Given the description of an element on the screen output the (x, y) to click on. 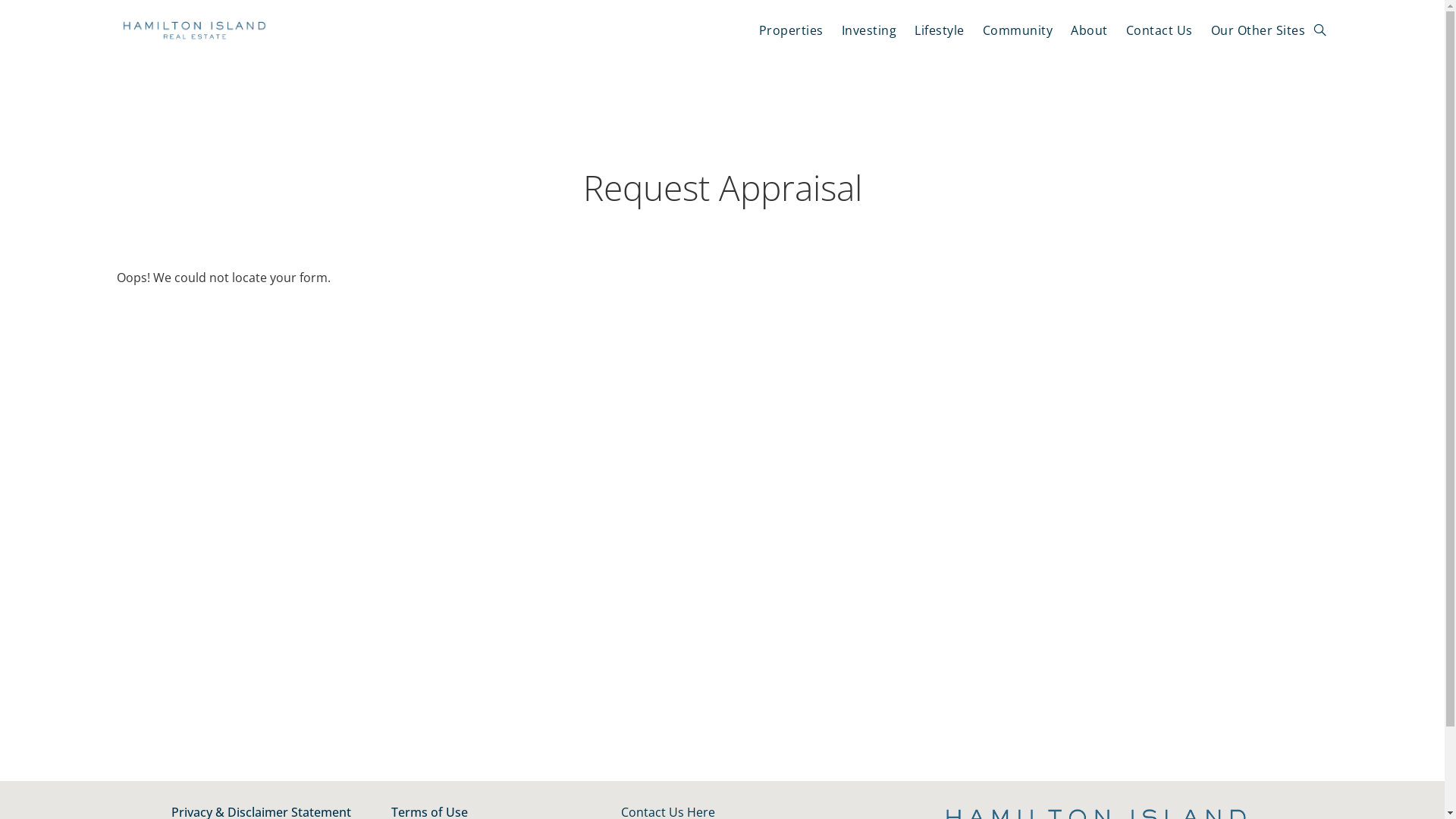
About Element type: text (1089, 30)
Contact Us Element type: text (1159, 30)
Properties Element type: text (791, 30)
Community Element type: text (1017, 30)
Our Other Sites Element type: text (1258, 30)
Lifestyle Element type: text (939, 30)
Investing Element type: text (869, 30)
